Given the description of an element on the screen output the (x, y) to click on. 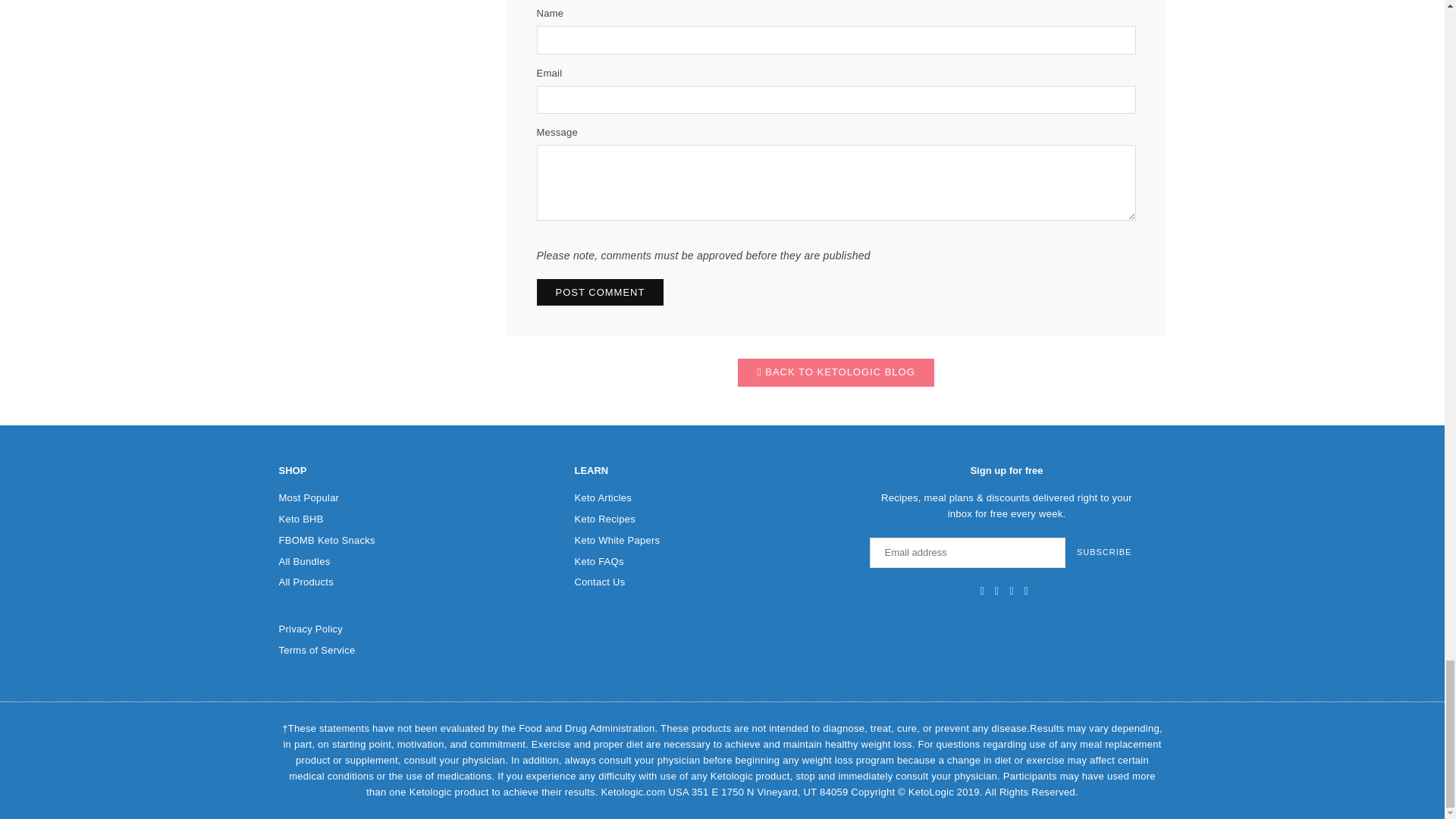
Post comment (600, 292)
